Given the description of an element on the screen output the (x, y) to click on. 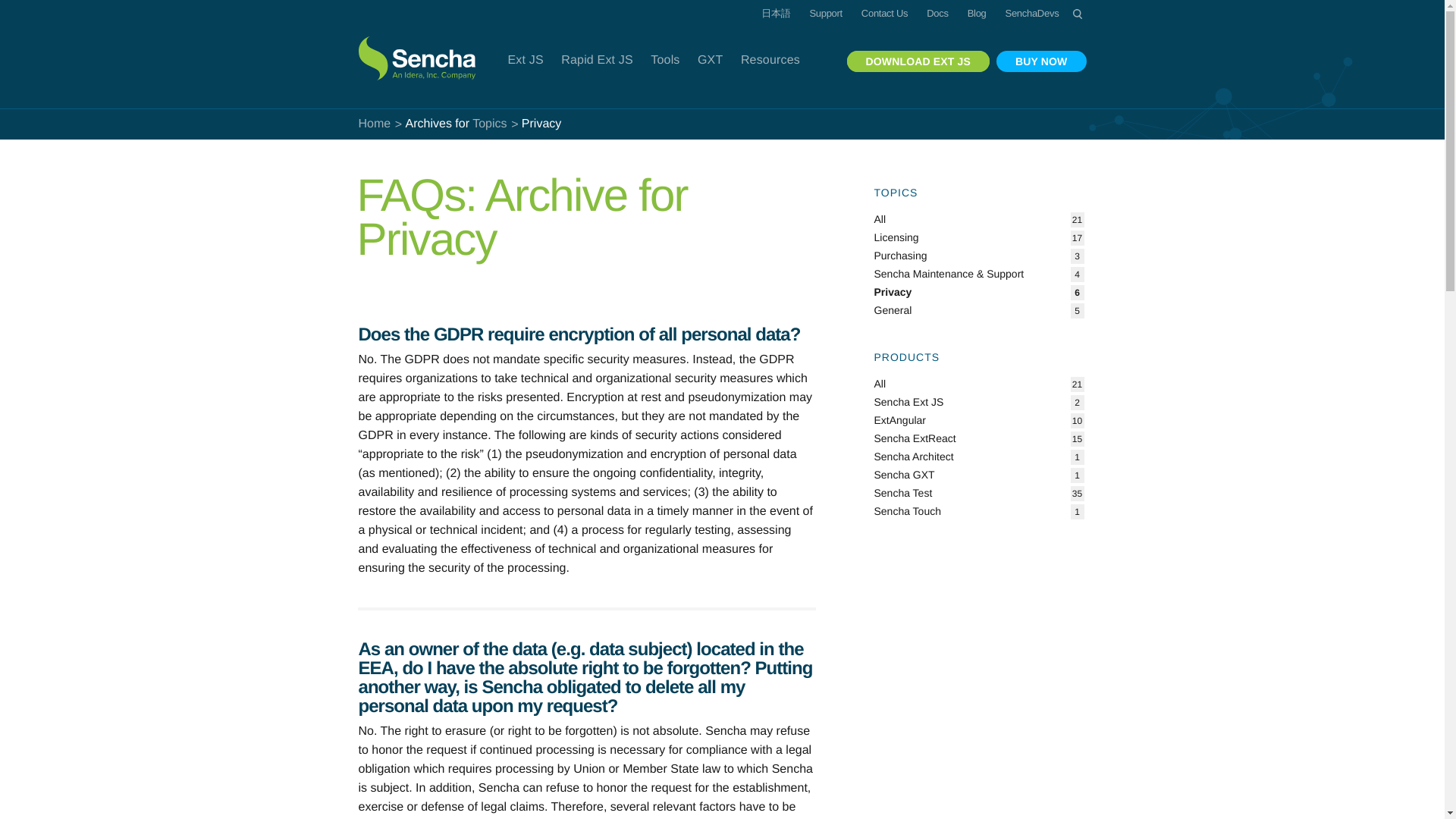
DOWNLOAD EXT JS (918, 61)
Rapid Ext JS (597, 60)
Sencha.com (418, 48)
Ext JS (525, 60)
Tools (664, 60)
BUY NOW (1040, 61)
